Given the description of an element on the screen output the (x, y) to click on. 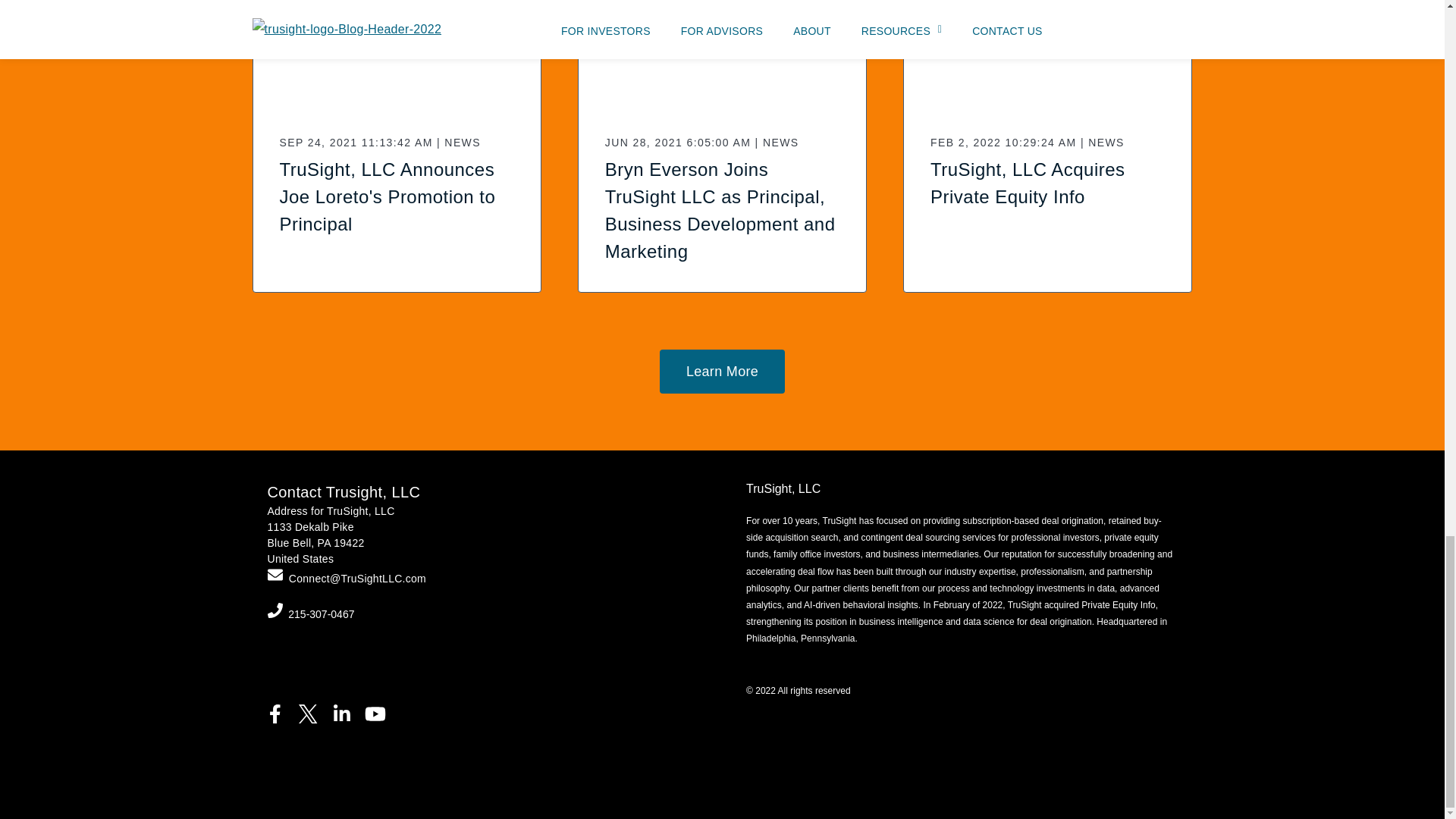
Learn More (721, 371)
215-307-0467 (320, 613)
